Given the description of an element on the screen output the (x, y) to click on. 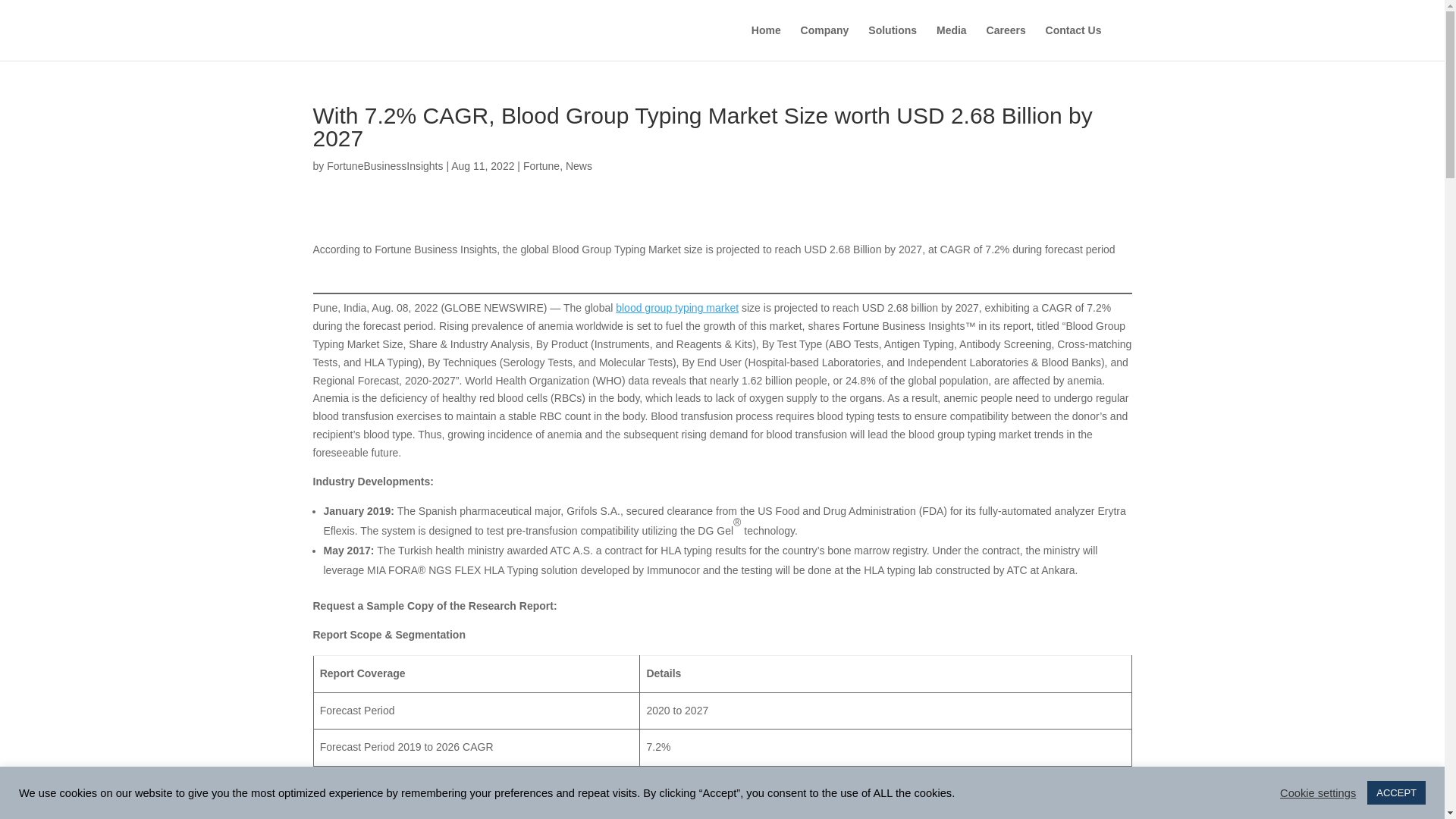
Solutions (892, 42)
Fortune (540, 165)
Contact Us (1073, 42)
Cookie settings (1317, 792)
Company (824, 42)
Careers (1006, 42)
ACCEPT (1396, 792)
blood group typing market (676, 307)
Posts by FortuneBusinessInsights (384, 165)
News (579, 165)
